Given the description of an element on the screen output the (x, y) to click on. 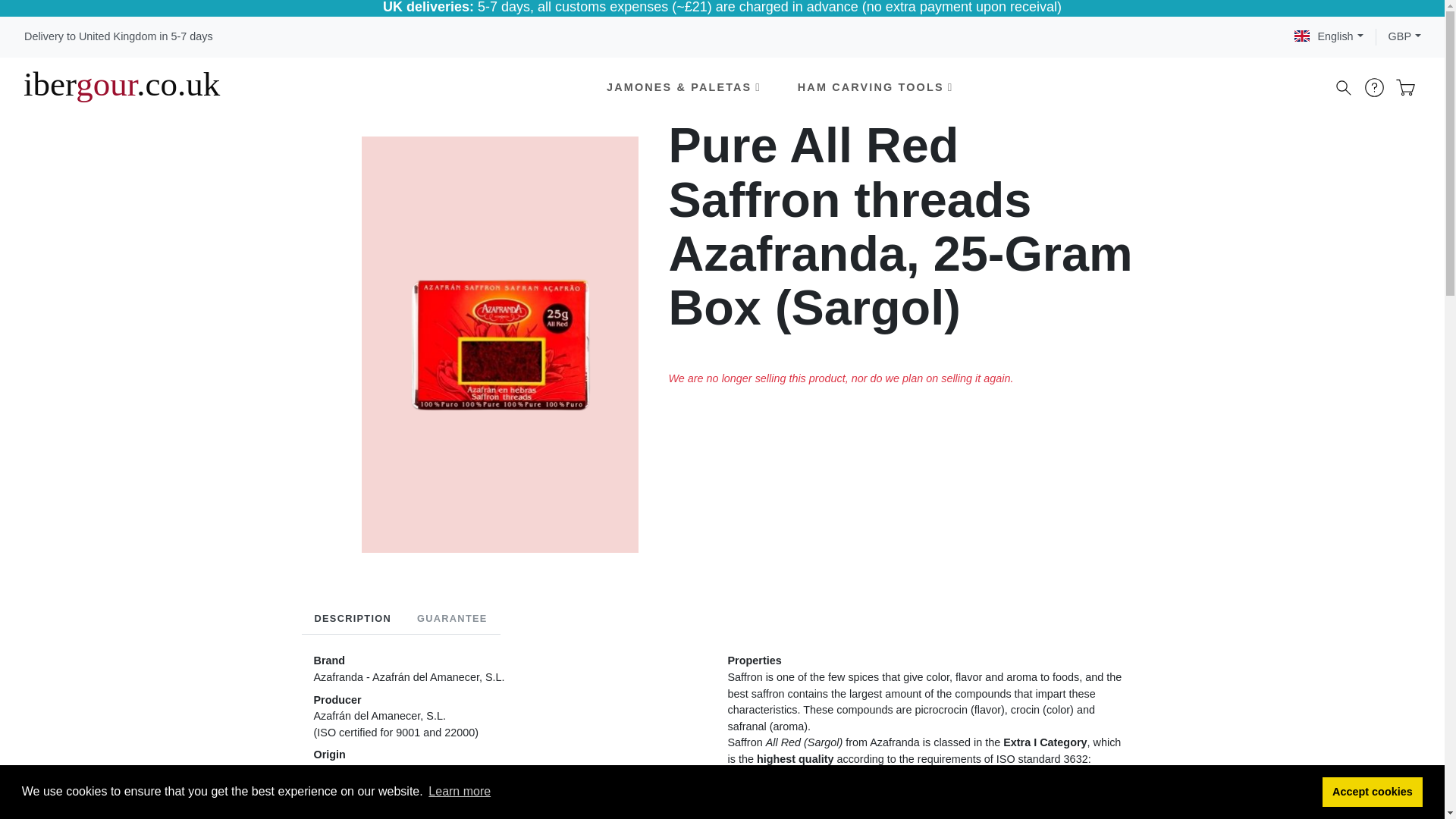
Accept cookies (1372, 791)
Learn more (459, 791)
Delivery to United Kingdom in 5-7 days (118, 36)
ibergour.co.uk (121, 87)
English (1328, 36)
GBP (1405, 36)
